Given the description of an element on the screen output the (x, y) to click on. 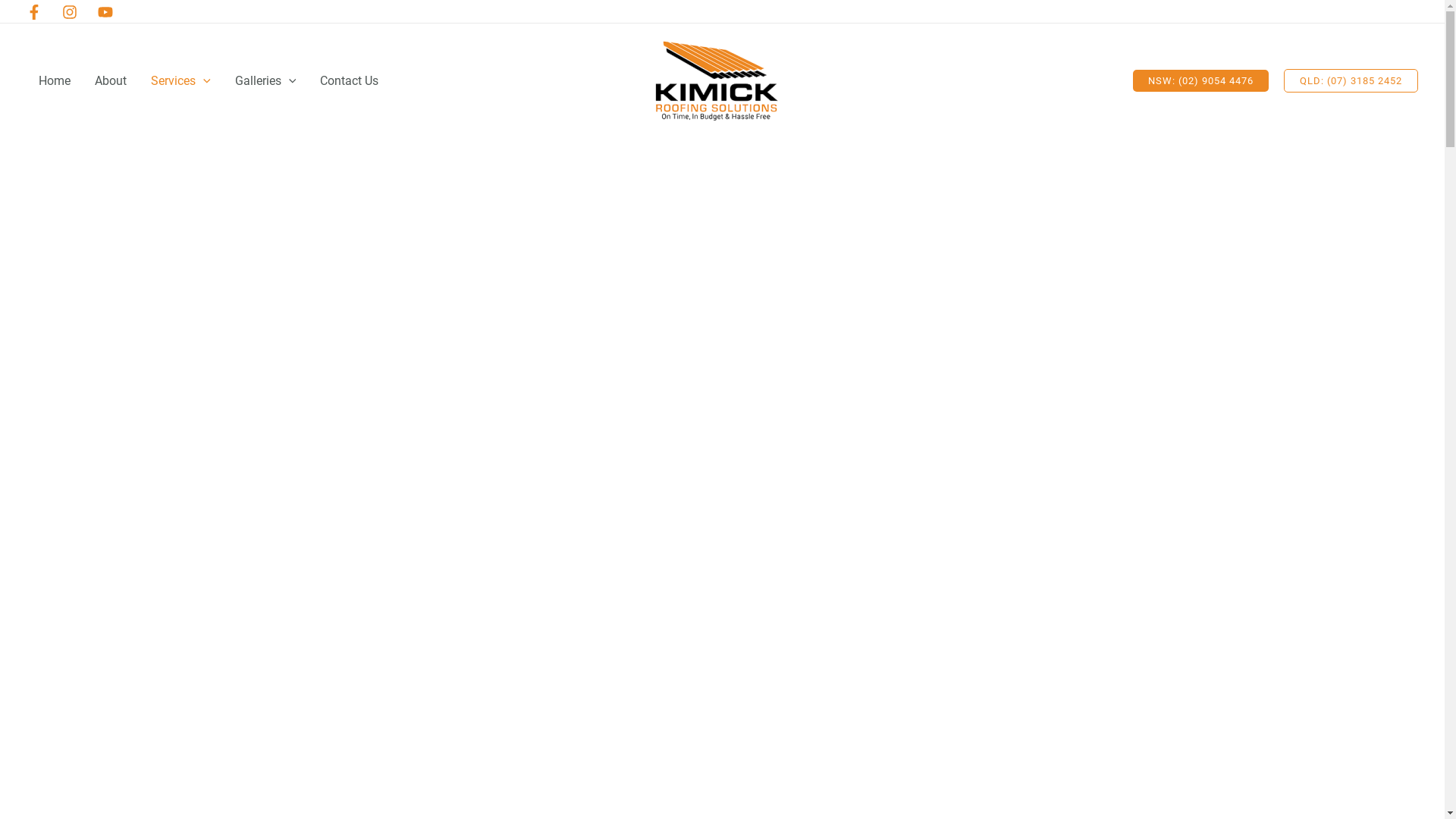
Galleries Element type: text (265, 80)
NSW: (02) 9054 4476 Element type: text (1200, 80)
Services Element type: text (180, 80)
About Element type: text (110, 80)
Contact Us Element type: text (348, 80)
QLD: (07) 3185 2452 Element type: text (1350, 80)
Home Element type: text (54, 80)
